Given the description of an element on the screen output the (x, y) to click on. 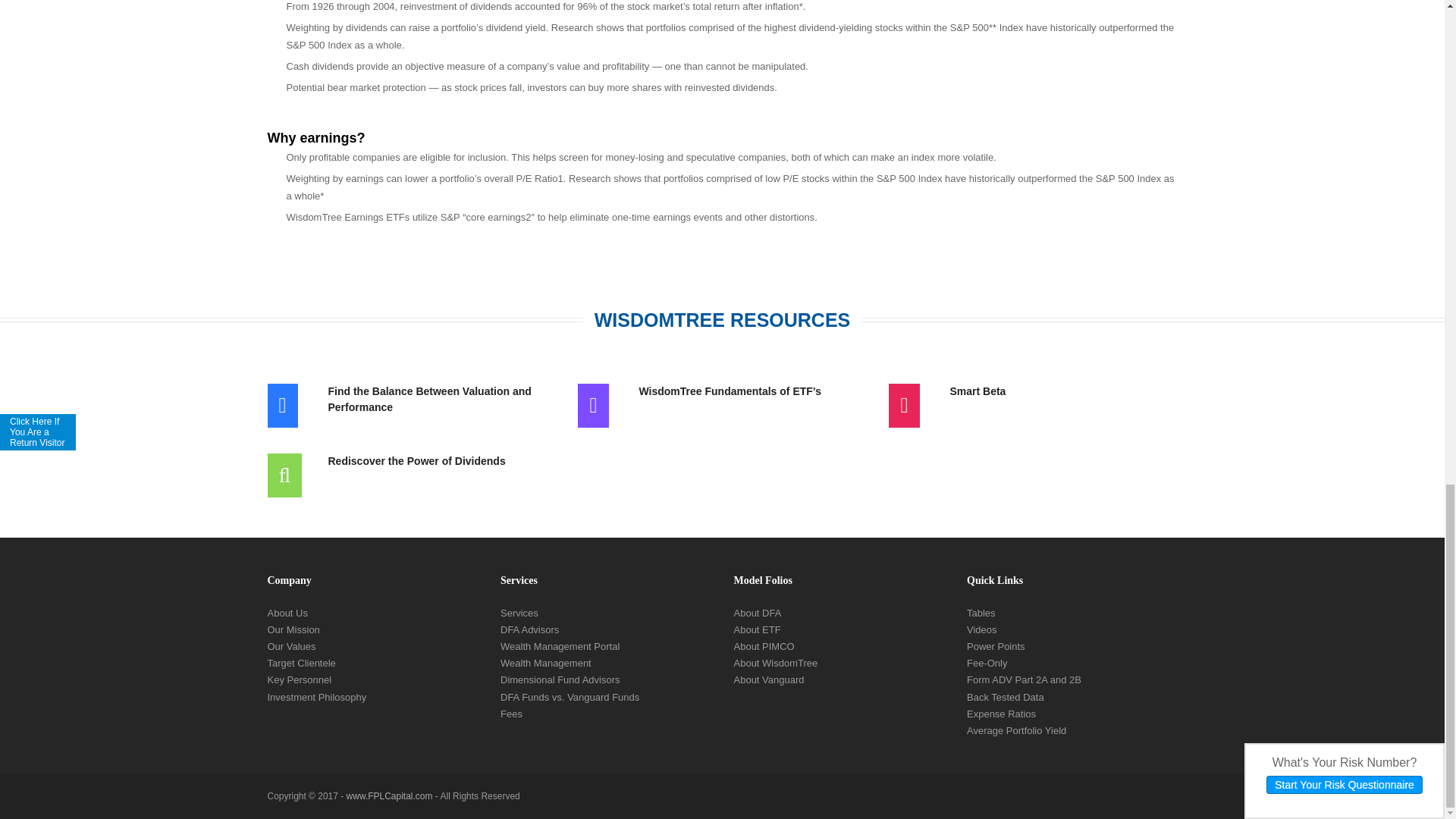
Smart Beta (1062, 391)
Rediscover the Power of Dividends  (440, 461)
Find the Balance Between Valuation and Performance (440, 399)
